Given the description of an element on the screen output the (x, y) to click on. 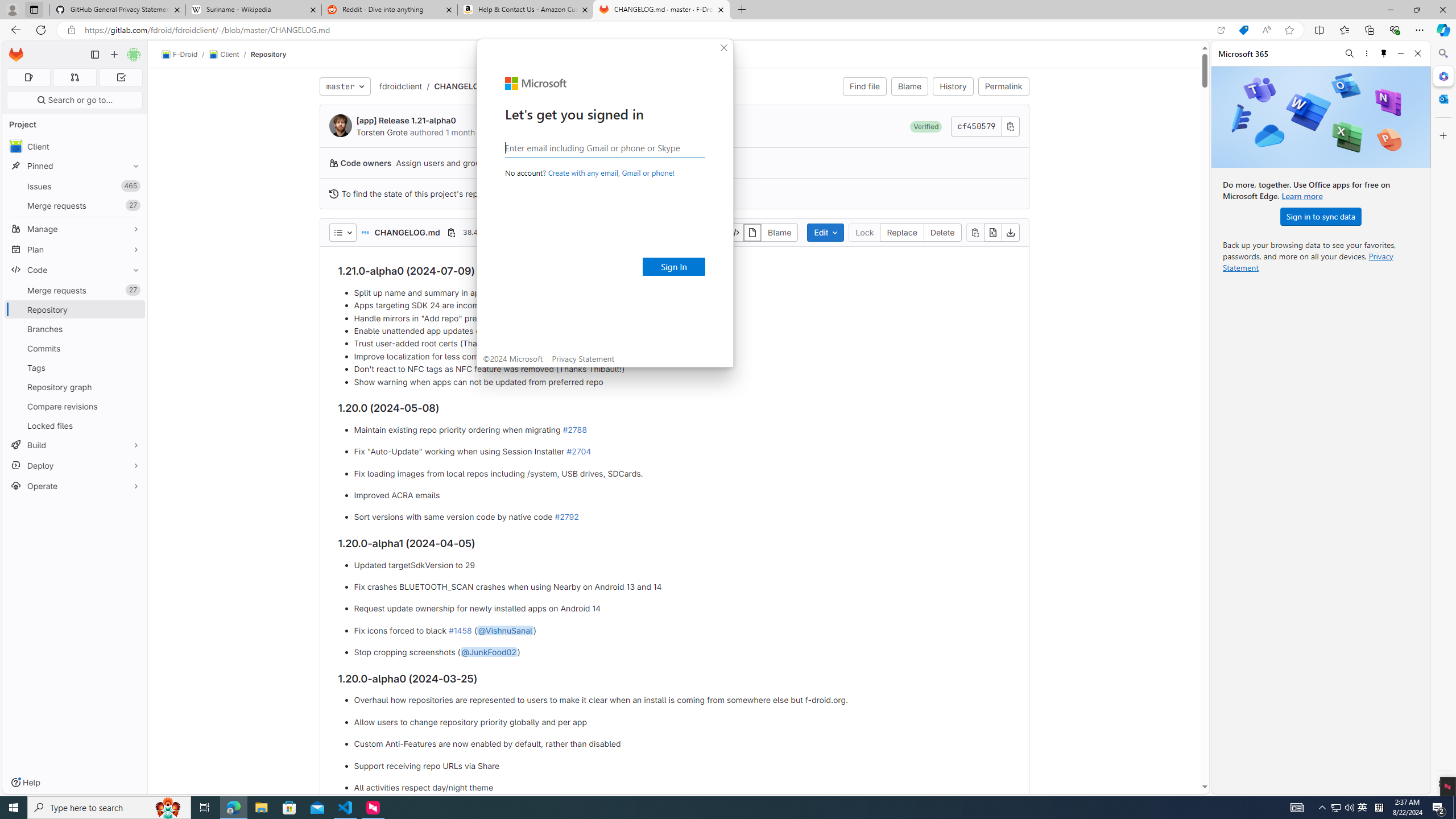
Commits (74, 348)
Branches (74, 328)
All activities respect day/night theme (681, 787)
Sort versions with same version code by native code #2792 (681, 517)
Search highlights icon opens search home window (167, 807)
Help (25, 782)
Pin Tags (132, 367)
Code (74, 269)
Task View (204, 807)
Branches (74, 328)
